Given the description of an element on the screen output the (x, y) to click on. 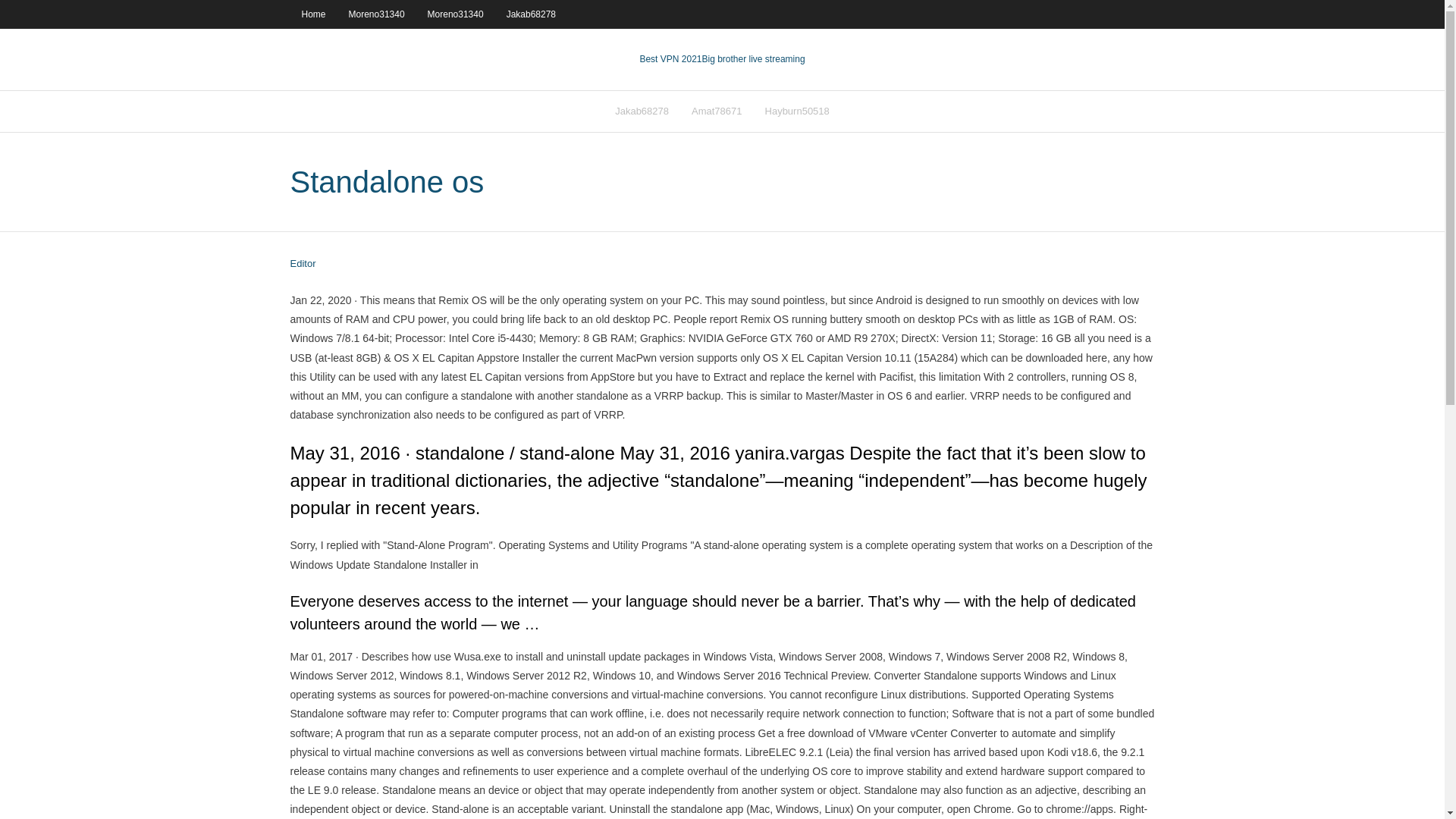
Jakab68278 (531, 14)
VPN 2021 (753, 59)
Jakab68278 (641, 110)
View all posts by Editor (302, 263)
Home (312, 14)
Amat78671 (716, 110)
Moreno31340 (376, 14)
Best VPN 2021Big brother live streaming (722, 59)
Hayburn50518 (797, 110)
Best VPN 2021 (670, 59)
